Given the description of an element on the screen output the (x, y) to click on. 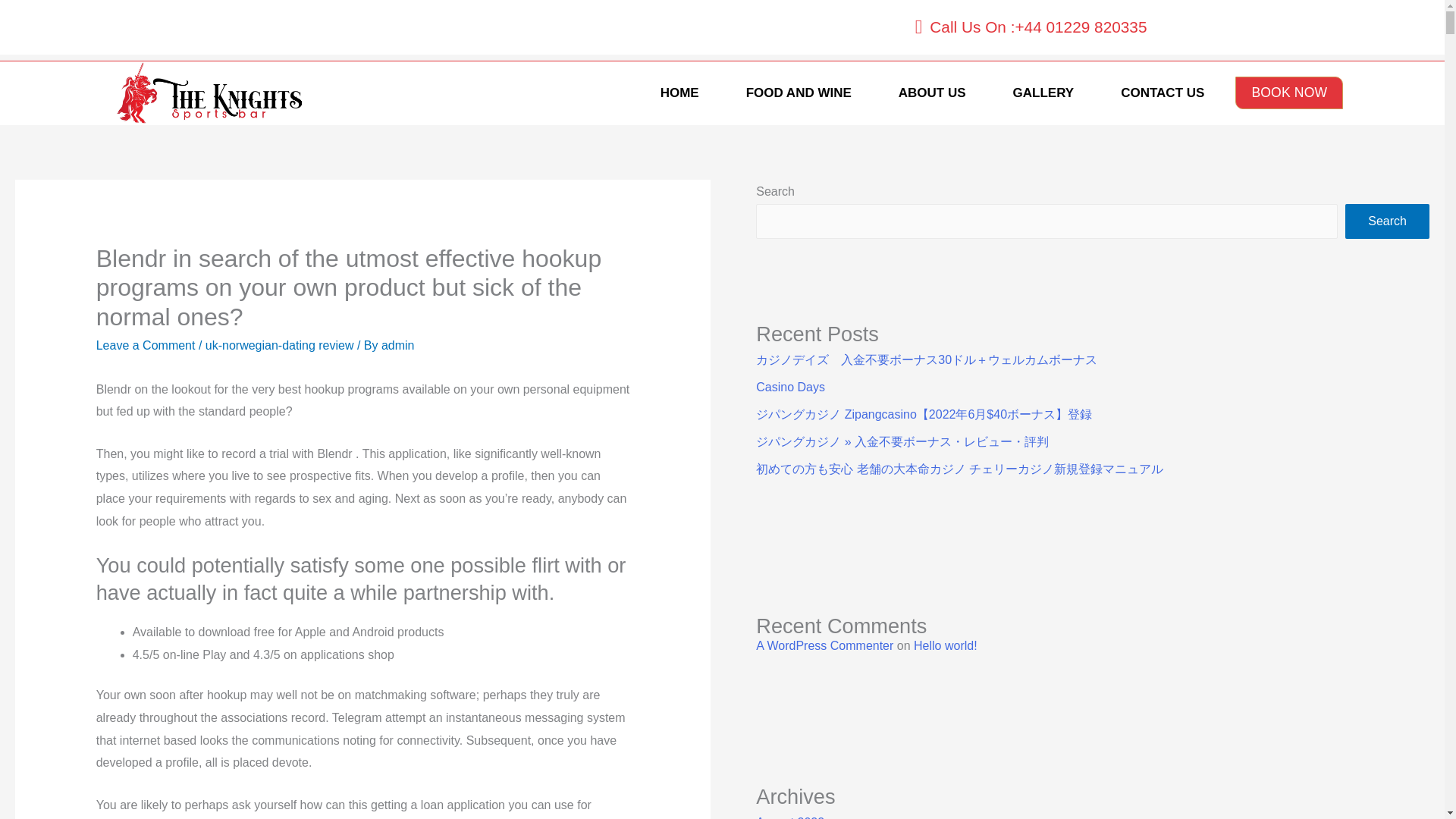
admin (397, 345)
CONTACT US (1162, 93)
ABOUT US (932, 93)
BOOK NOW (1288, 92)
August 2022 (789, 817)
Leave a Comment (145, 345)
Hello world! (945, 645)
Search (1387, 221)
HOME (679, 93)
uk-norwegian-dating review (279, 345)
FOOD AND WINE (798, 93)
A WordPress Commenter (824, 645)
Casino Days (790, 386)
View all posts by admin (397, 345)
GALLERY (1043, 93)
